Given the description of an element on the screen output the (x, y) to click on. 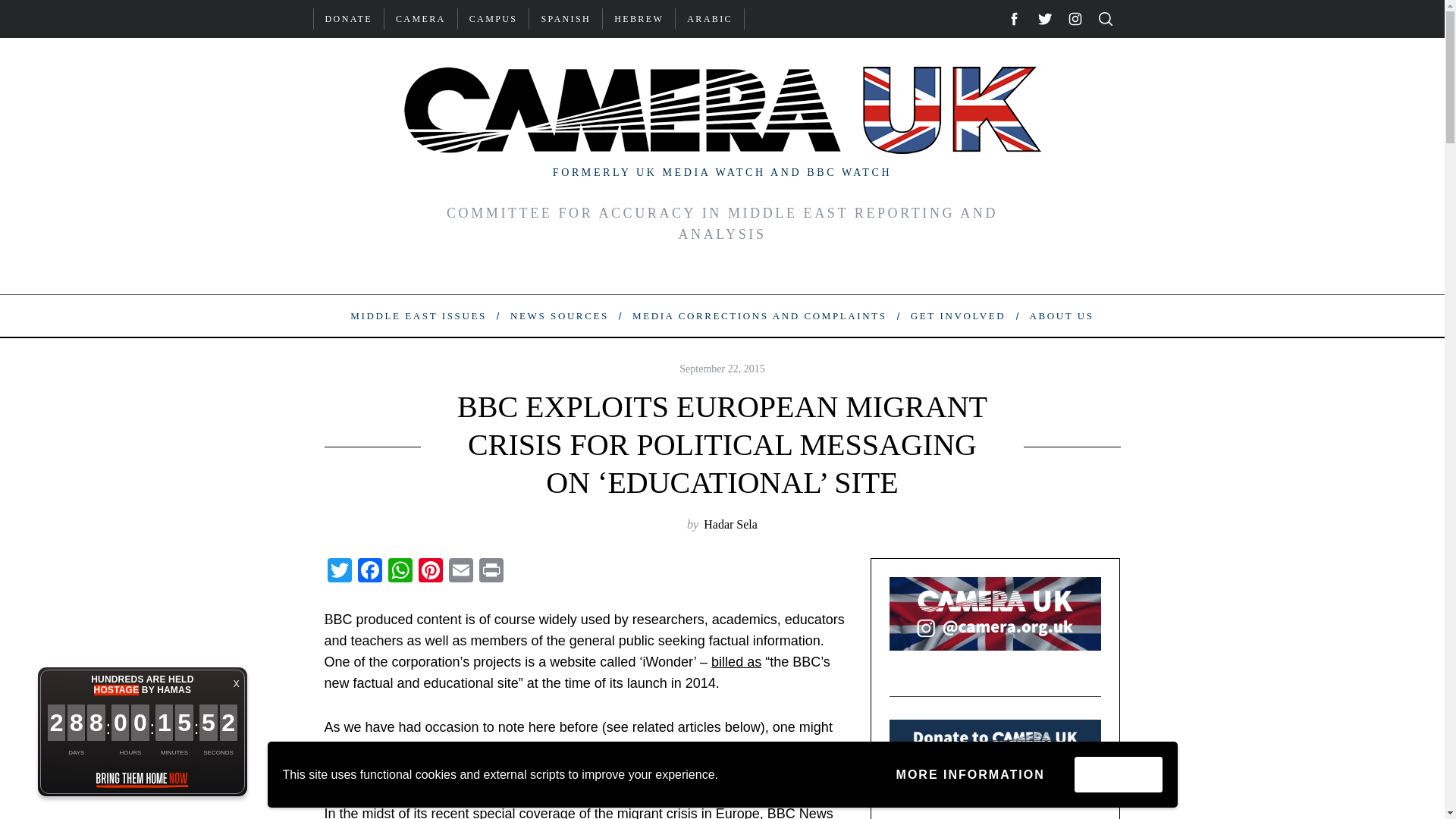
ARABIC (709, 18)
ACCEPT (1117, 774)
Pinterest (429, 571)
MIDDLE EAST ISSUES (419, 315)
NEWS SOURCES (558, 315)
ABOUT US (1061, 315)
CAMERA (420, 18)
Print (491, 571)
Twitter (339, 571)
CAMPUS (493, 18)
HEBREW (638, 18)
billed as (736, 661)
GET INVOLVED (957, 315)
Hadar Sela (730, 523)
Email (460, 571)
